Given the description of an element on the screen output the (x, y) to click on. 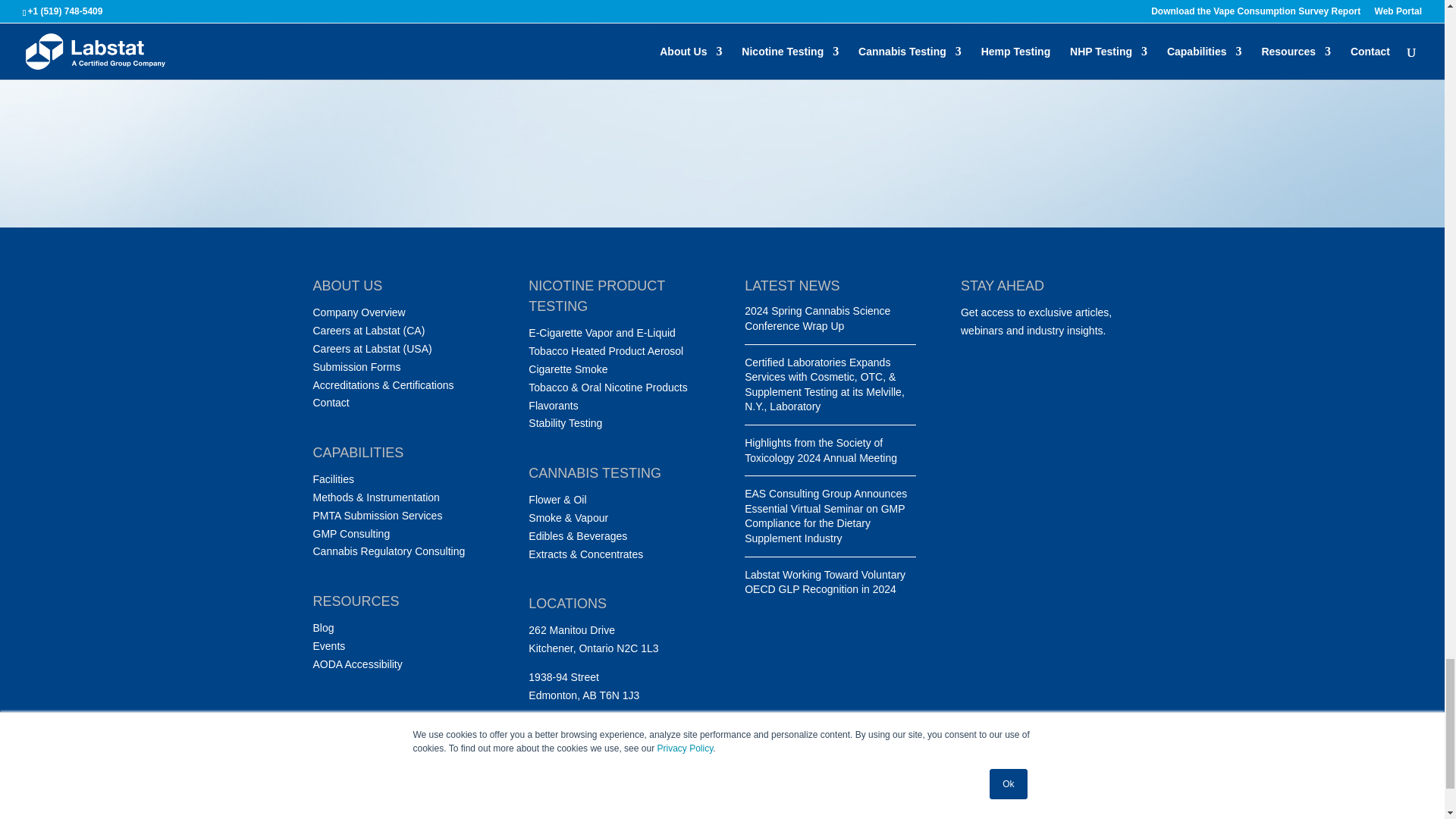
Form 0 (722, 62)
